Given the description of an element on the screen output the (x, y) to click on. 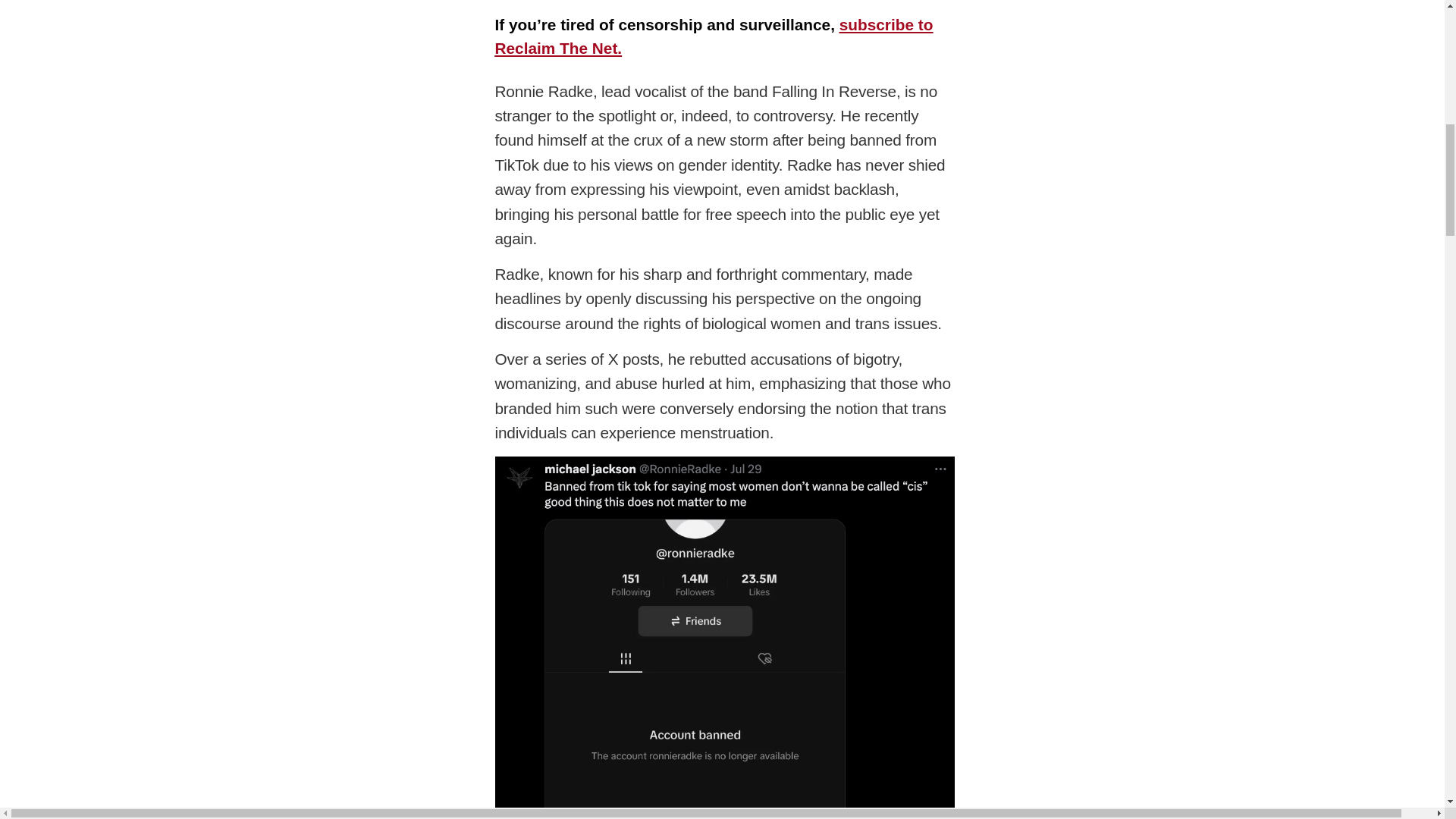
subscribe to Reclaim The Net. (714, 35)
